Given the description of an element on the screen output the (x, y) to click on. 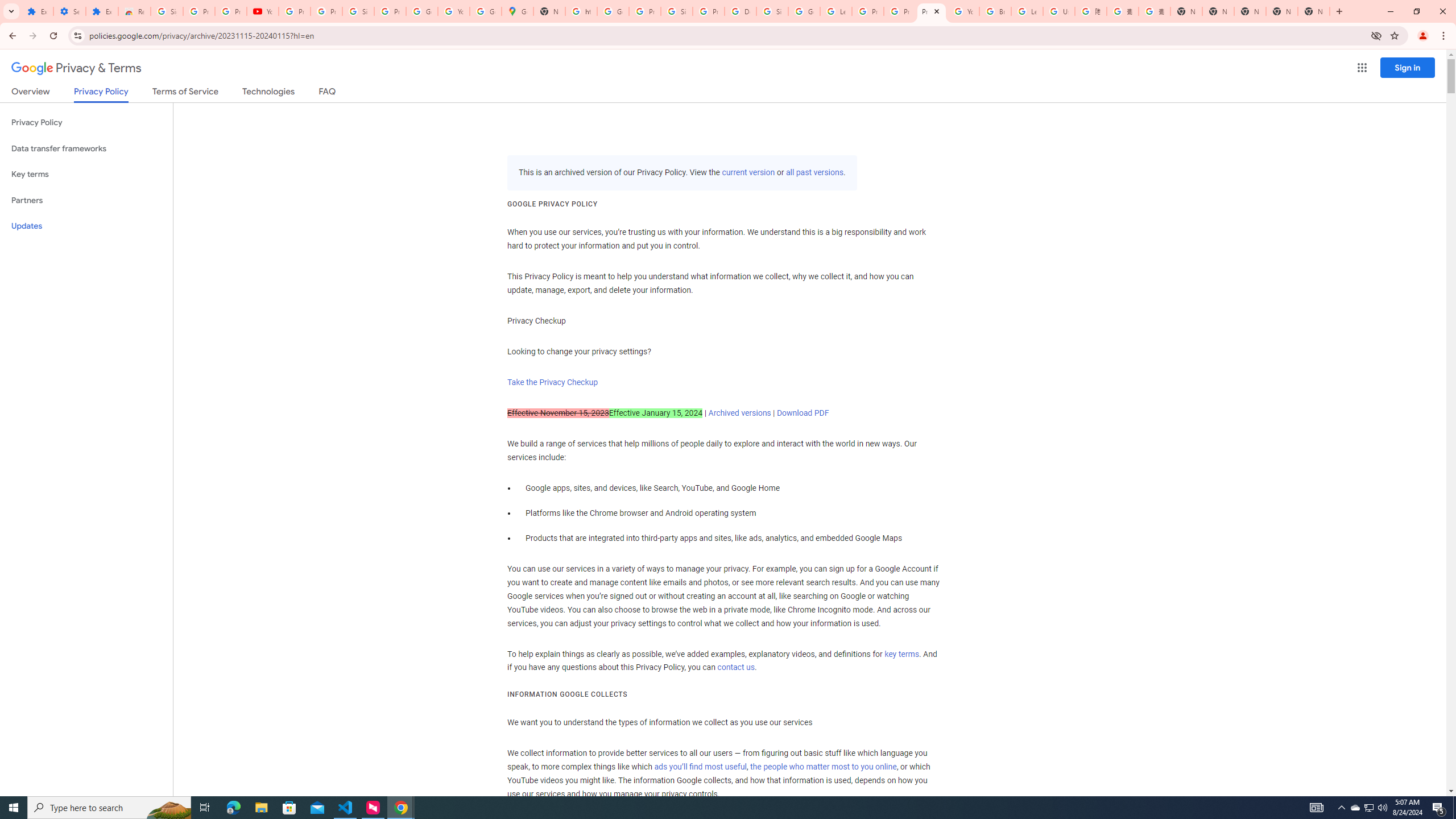
New Tab (1185, 11)
Extensions (37, 11)
current version (748, 172)
the people who matter most to you online (822, 766)
Sign in - Google Accounts (358, 11)
